Given the description of an element on the screen output the (x, y) to click on. 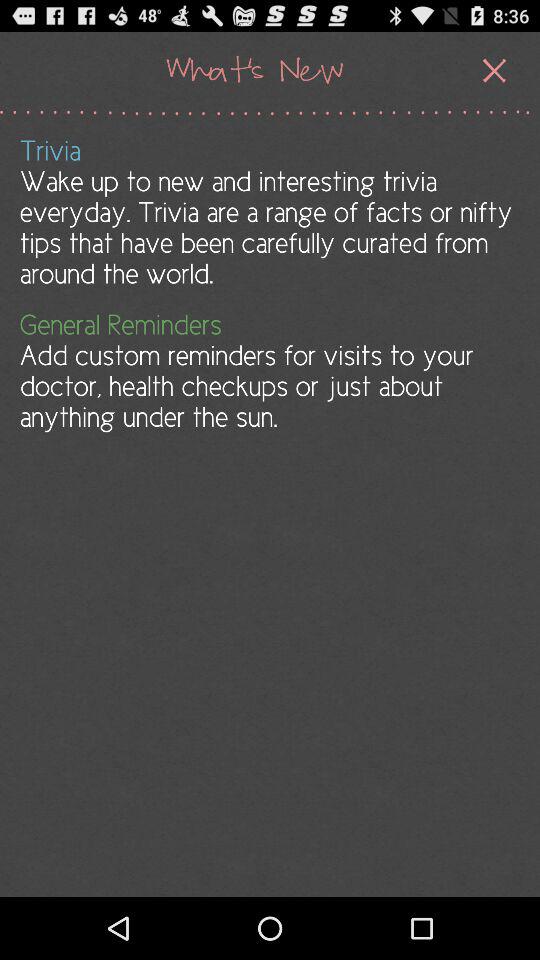
press the general reminders add item (268, 370)
